Given the description of an element on the screen output the (x, y) to click on. 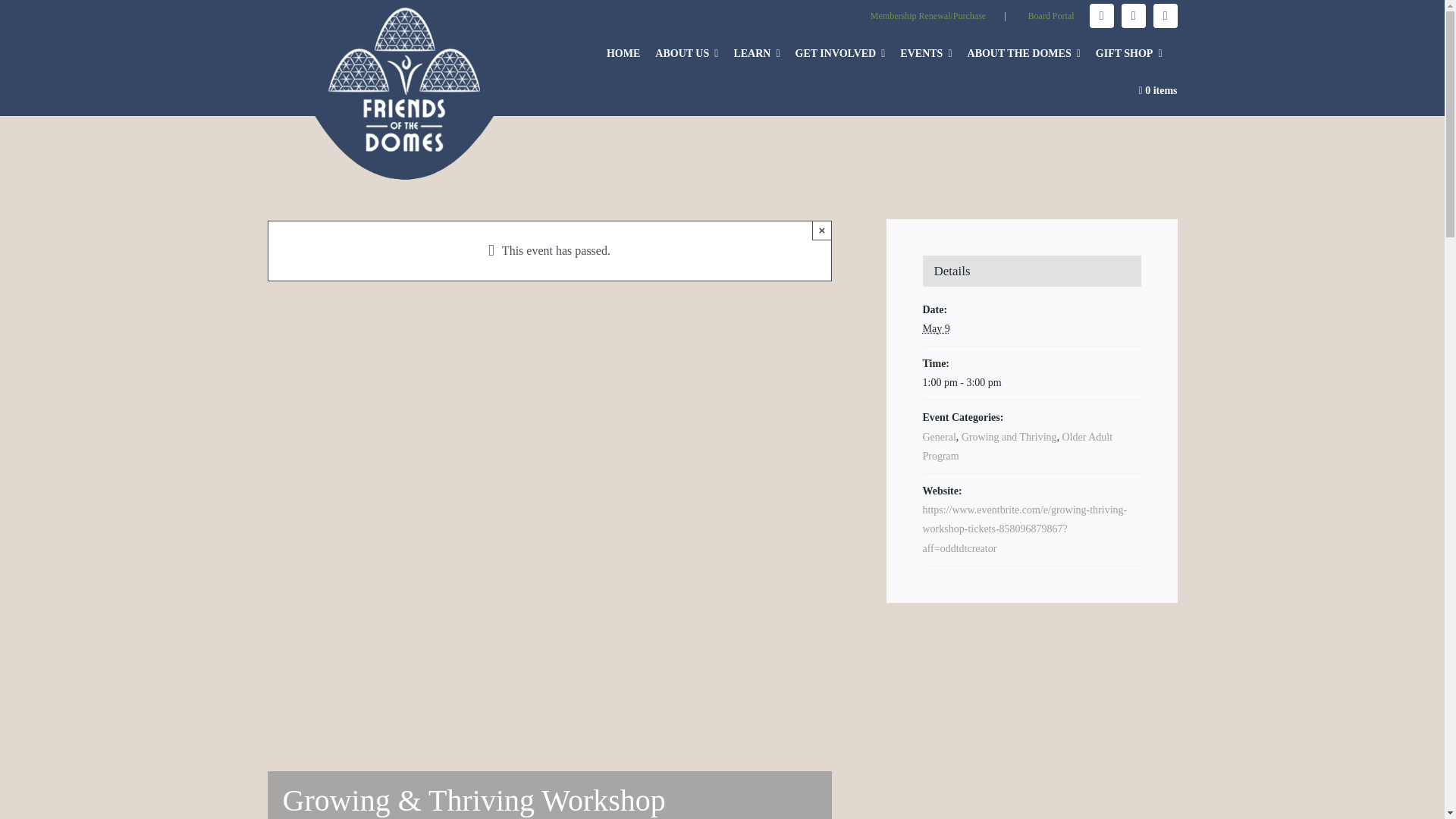
LEARN (763, 45)
Facebook (1101, 15)
Start shopping (1156, 90)
HOME (631, 45)
Instagram (1133, 15)
Friends of the Domes (406, 91)
Board Portal (1050, 15)
GET INVOLVED (847, 45)
LinkedIn (1165, 15)
ABOUT US (694, 45)
